Given the description of an element on the screen output the (x, y) to click on. 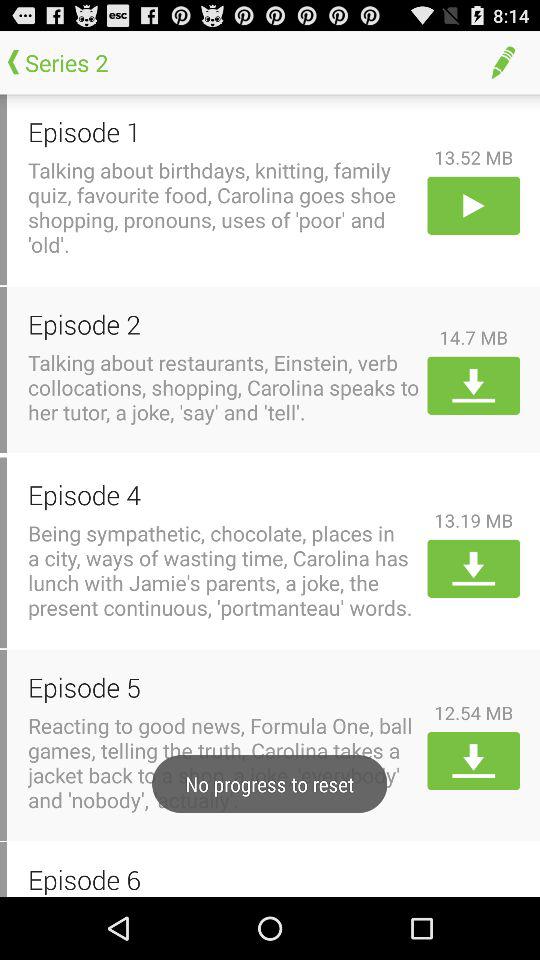
play episode (473, 205)
